Given the description of an element on the screen output the (x, y) to click on. 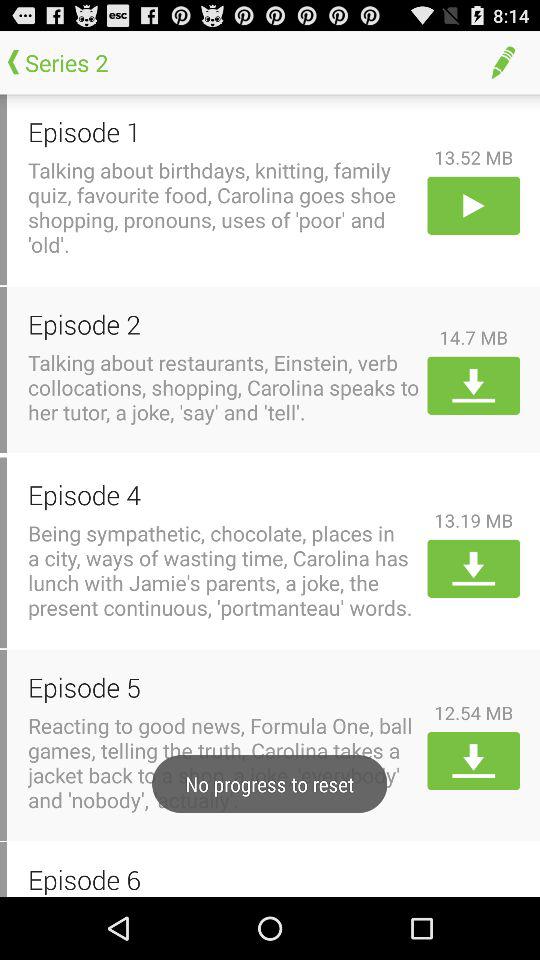
play episode (473, 205)
